Given the description of an element on the screen output the (x, y) to click on. 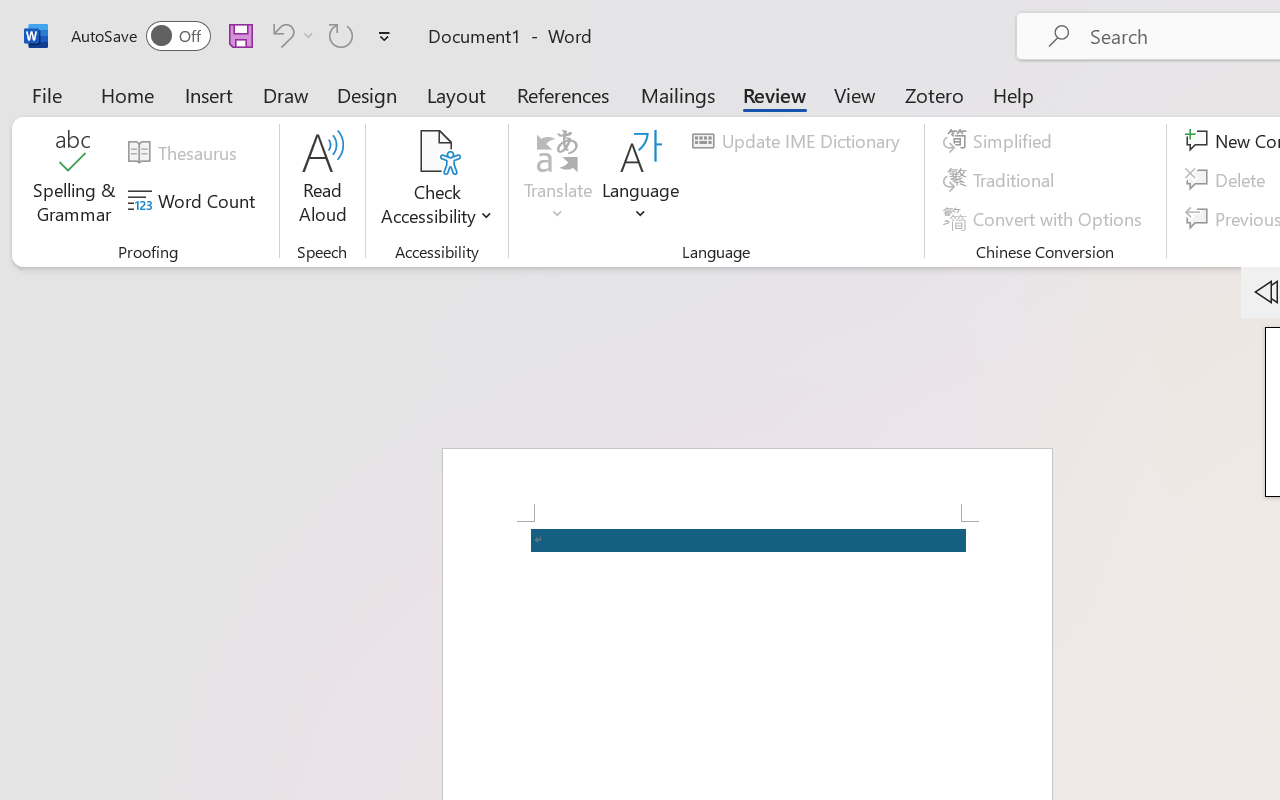
Delete (1227, 179)
Check Accessibility (436, 151)
Traditional (1001, 179)
Translate (558, 179)
Word Count (194, 201)
Simplified (1000, 141)
